Given the description of an element on the screen output the (x, y) to click on. 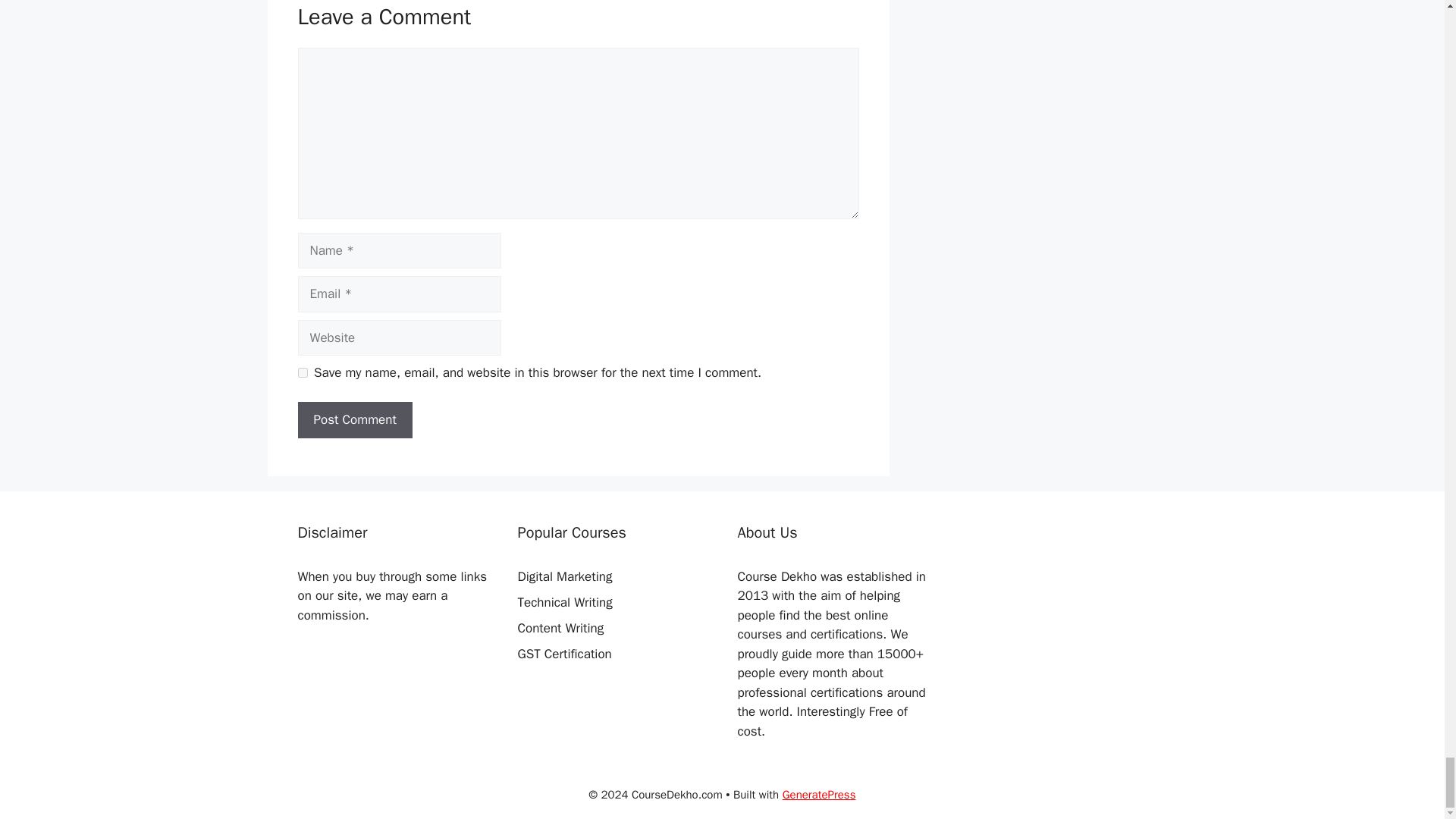
Post Comment (354, 420)
yes (302, 372)
GeneratePress (819, 794)
Post Comment (354, 420)
